Given the description of an element on the screen output the (x, y) to click on. 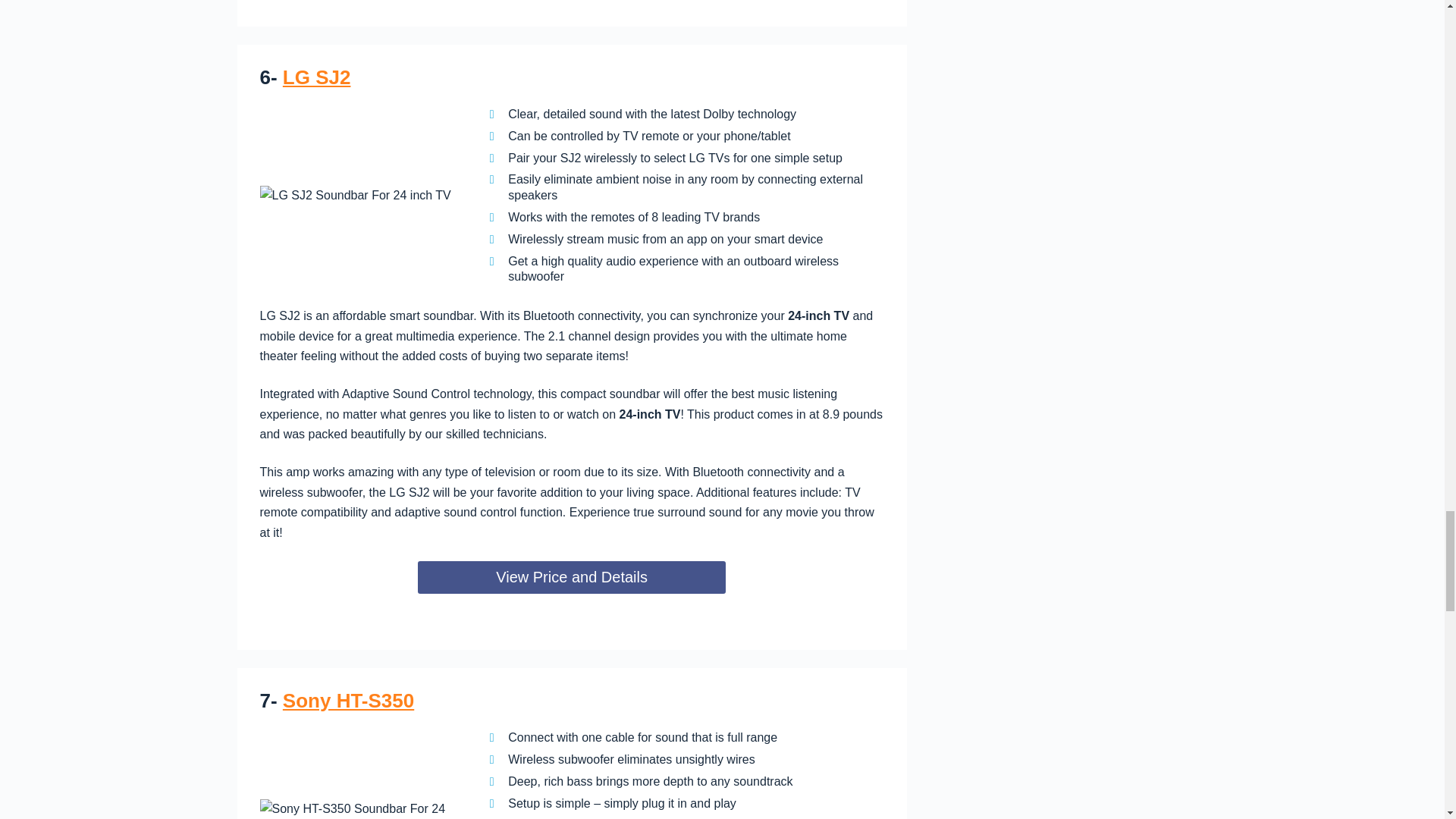
LG SJ2 (316, 77)
Sony HT-S350 (347, 700)
View Price and Details (571, 577)
